Given the description of an element on the screen output the (x, y) to click on. 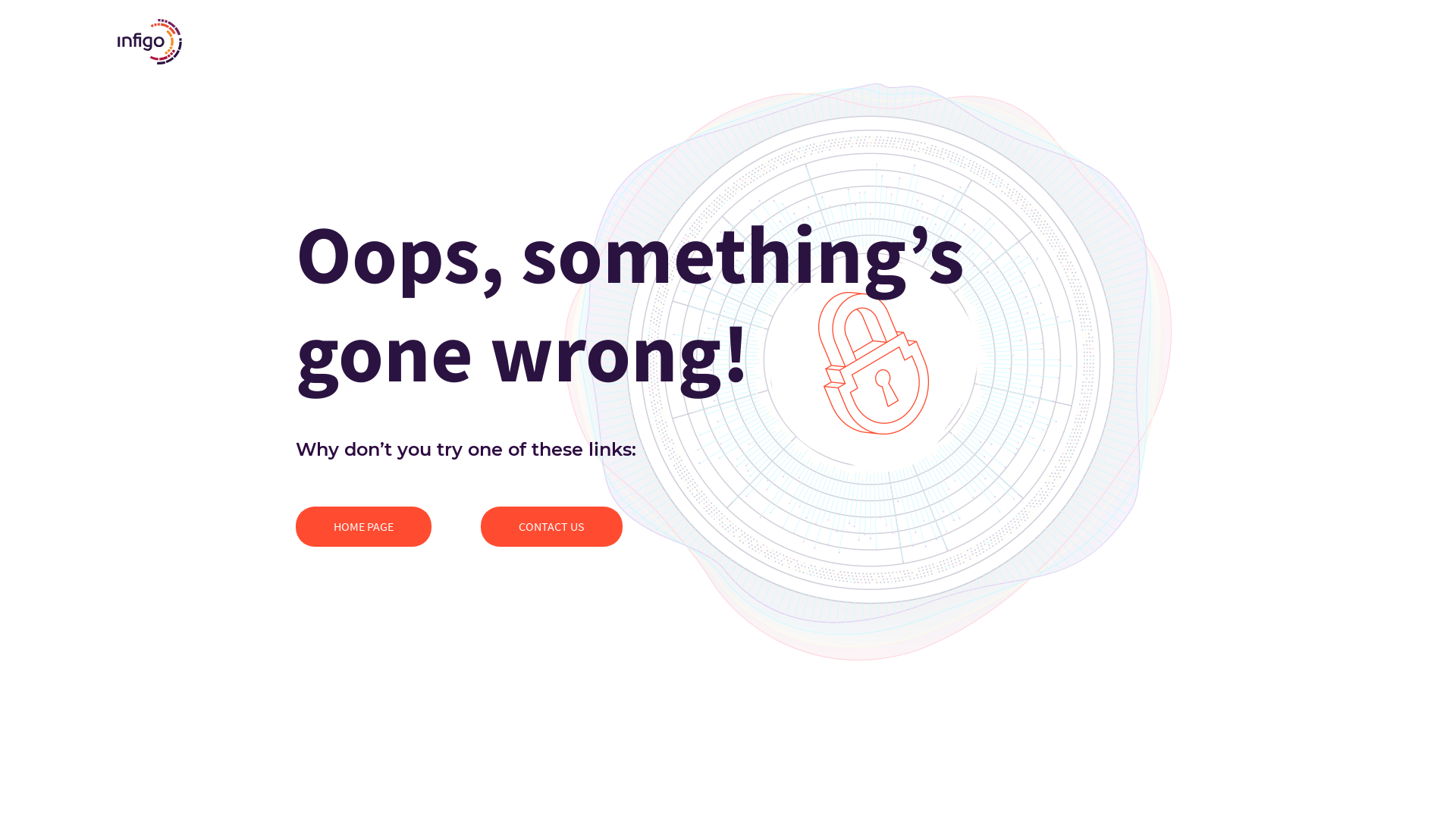
HOME PAGE Element type: text (363, 526)
CONTACT US Element type: text (551, 526)
